Given the description of an element on the screen output the (x, y) to click on. 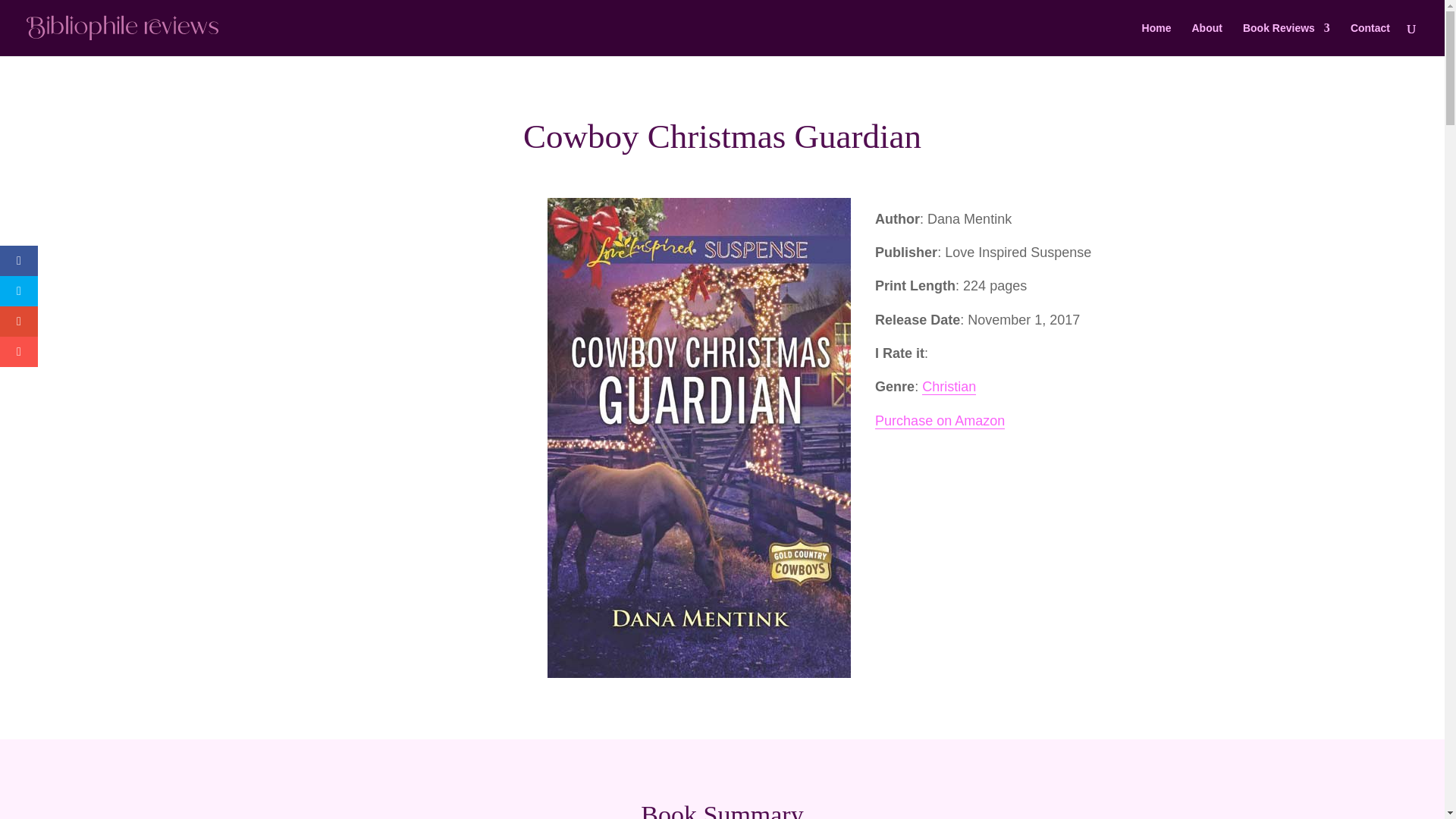
Contact (1370, 39)
Christian (948, 386)
About (1206, 39)
Book Reviews (1286, 39)
Purchase on Amazon (939, 421)
